Given the description of an element on the screen output the (x, y) to click on. 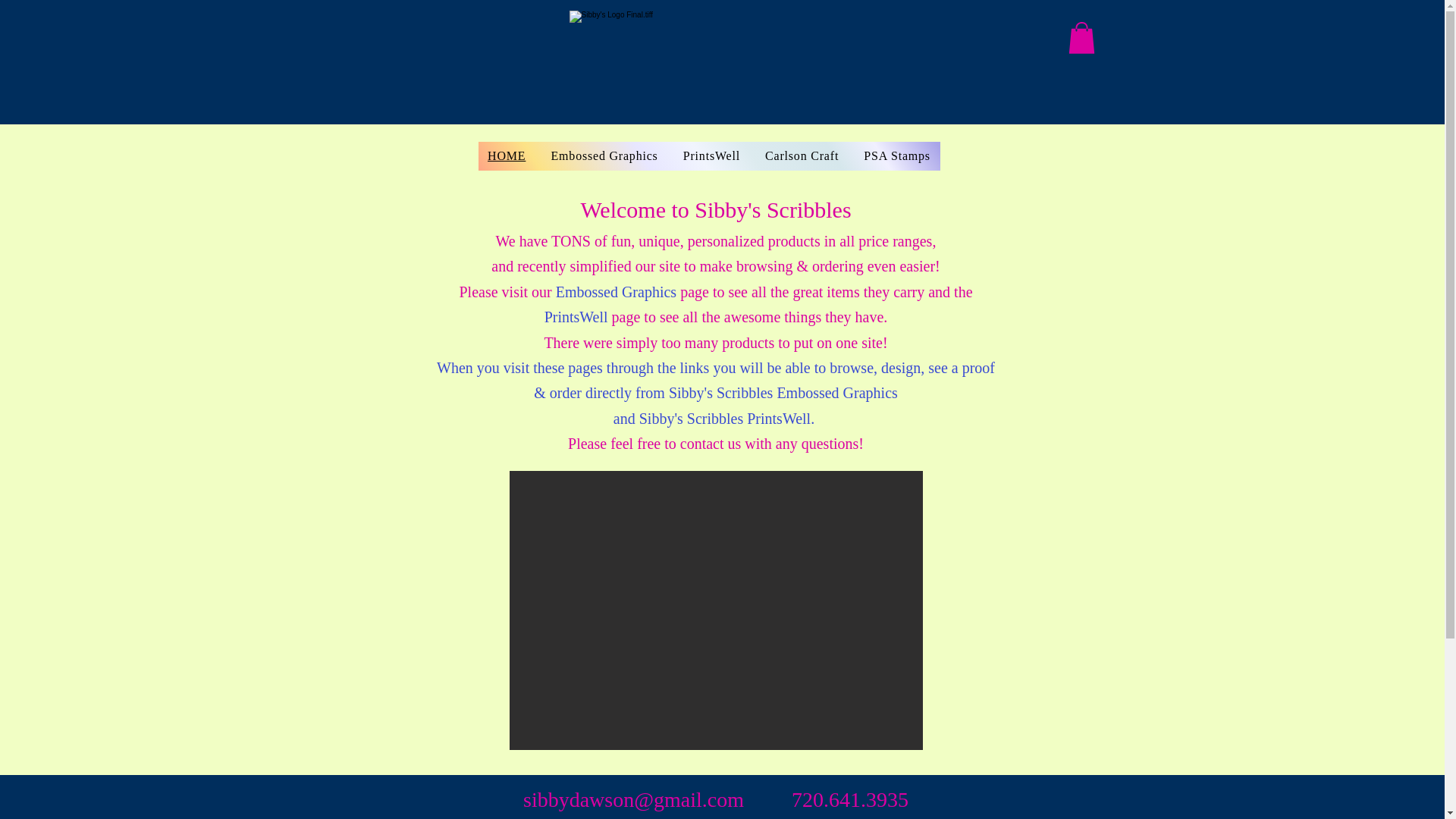
Carlson Craft (801, 155)
HOME (505, 155)
PrintsWell (710, 155)
Embossed Graphics (603, 155)
PSA Stamps (897, 155)
